Given the description of an element on the screen output the (x, y) to click on. 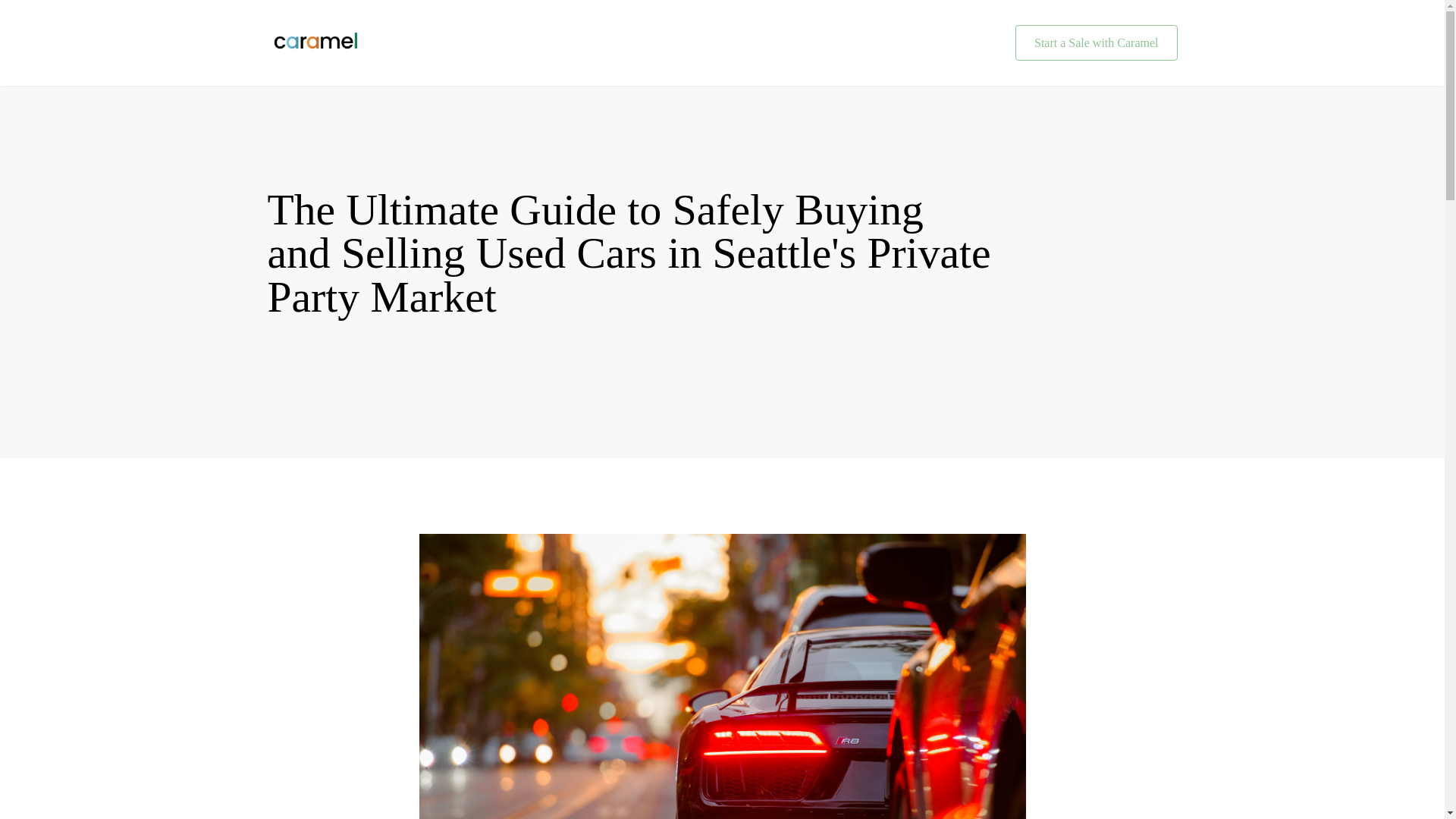
Start a Sale with Caramel (1095, 43)
